Given the description of an element on the screen output the (x, y) to click on. 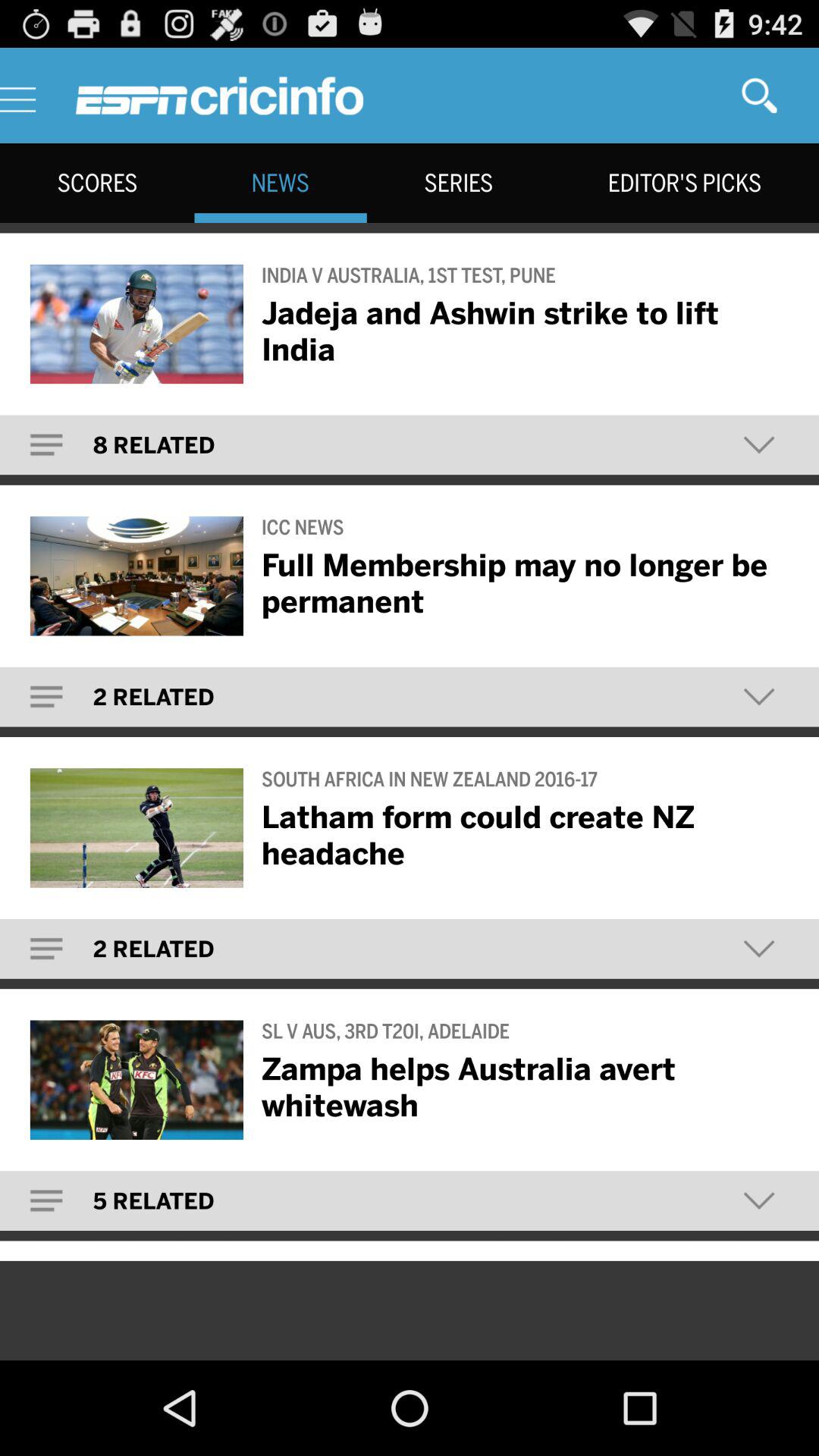
select the beside zampa helps australia avert whitewash (136, 1080)
select the icon right to 5 related (758, 1200)
